Given the description of an element on the screen output the (x, y) to click on. 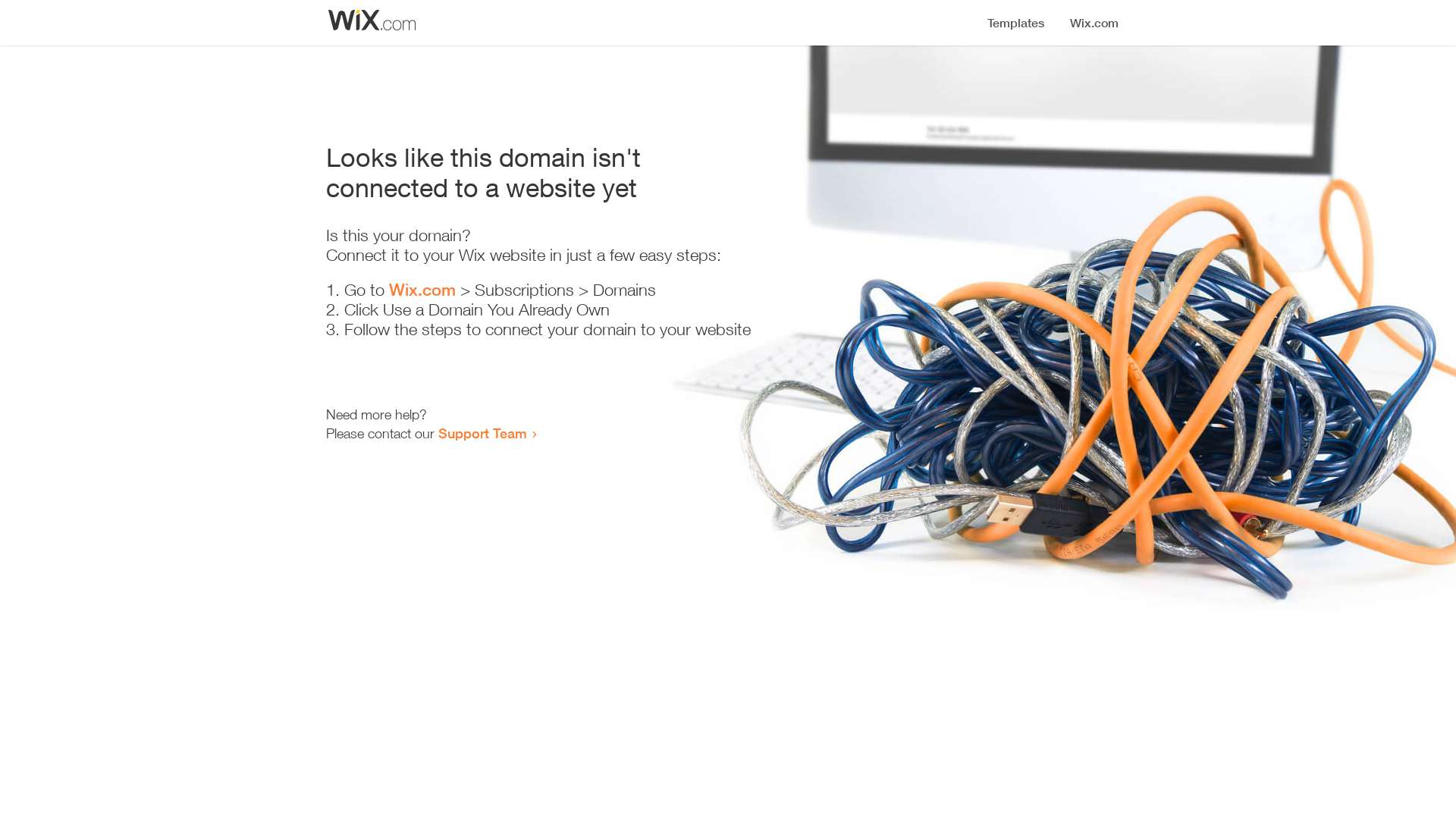
Support Team Element type: text (482, 432)
Wix.com Element type: text (422, 289)
